Given the description of an element on the screen output the (x, y) to click on. 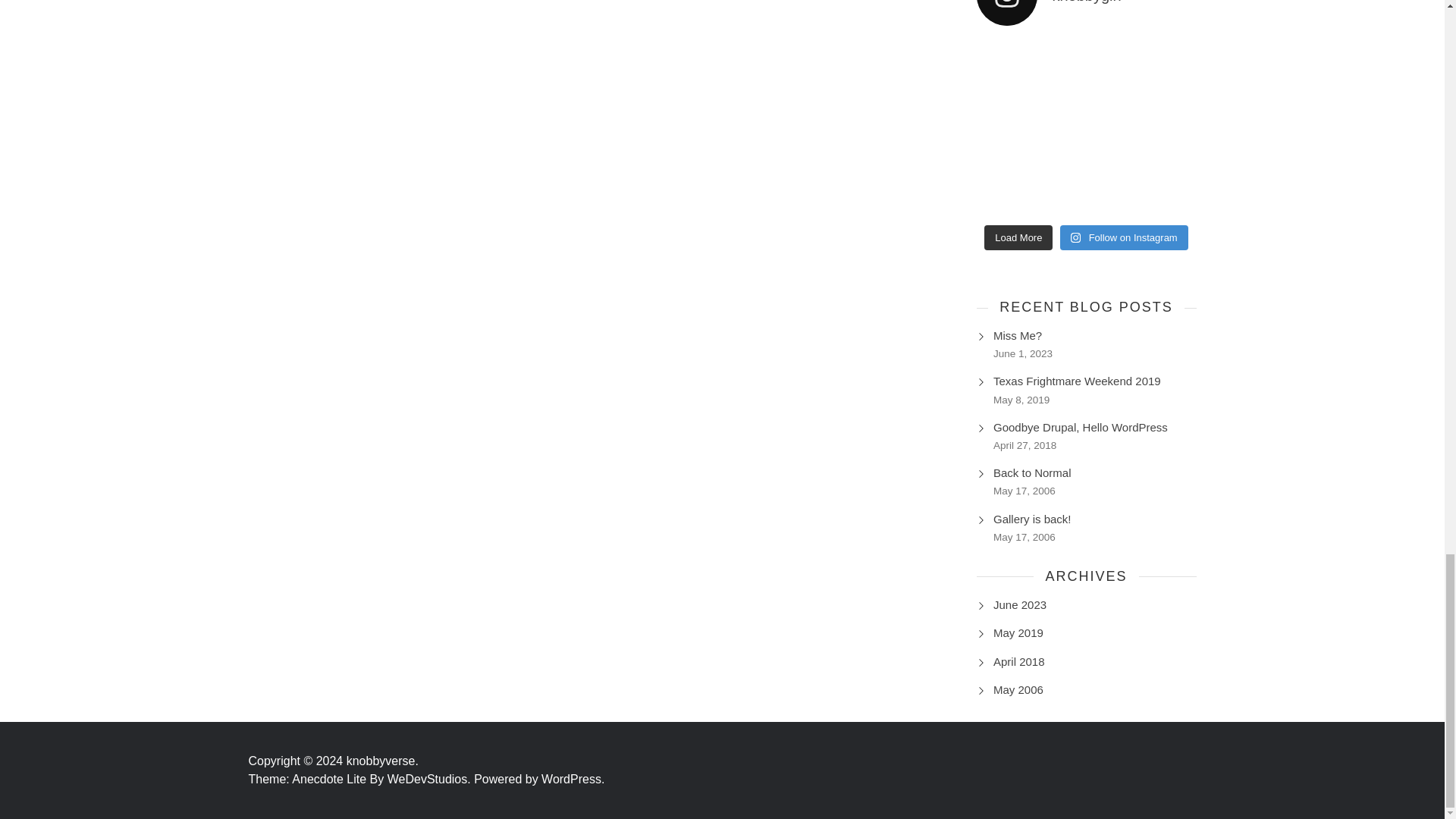
WeDevStudios (430, 779)
knobbyverse (382, 760)
WordPress (572, 779)
